Given the description of an element on the screen output the (x, y) to click on. 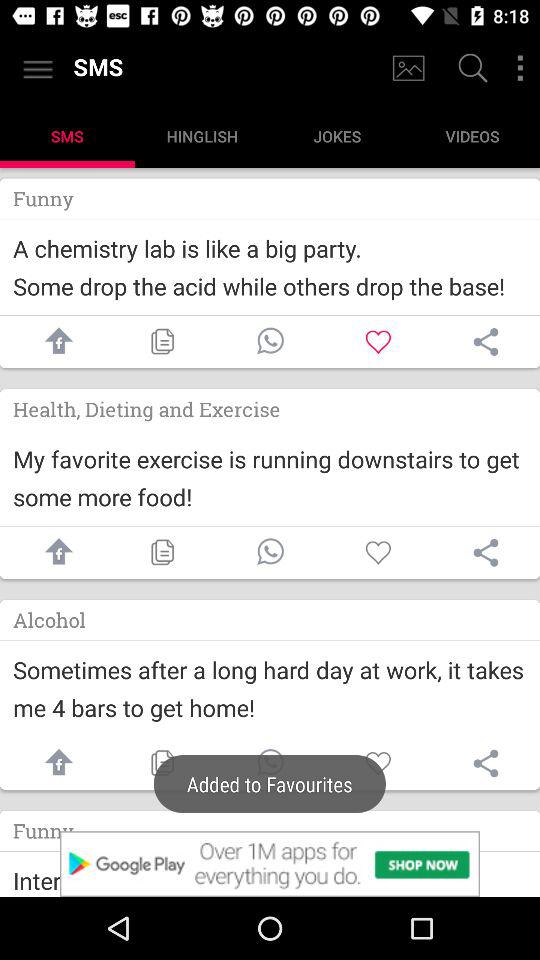
go to settings (520, 67)
